Given the description of an element on the screen output the (x, y) to click on. 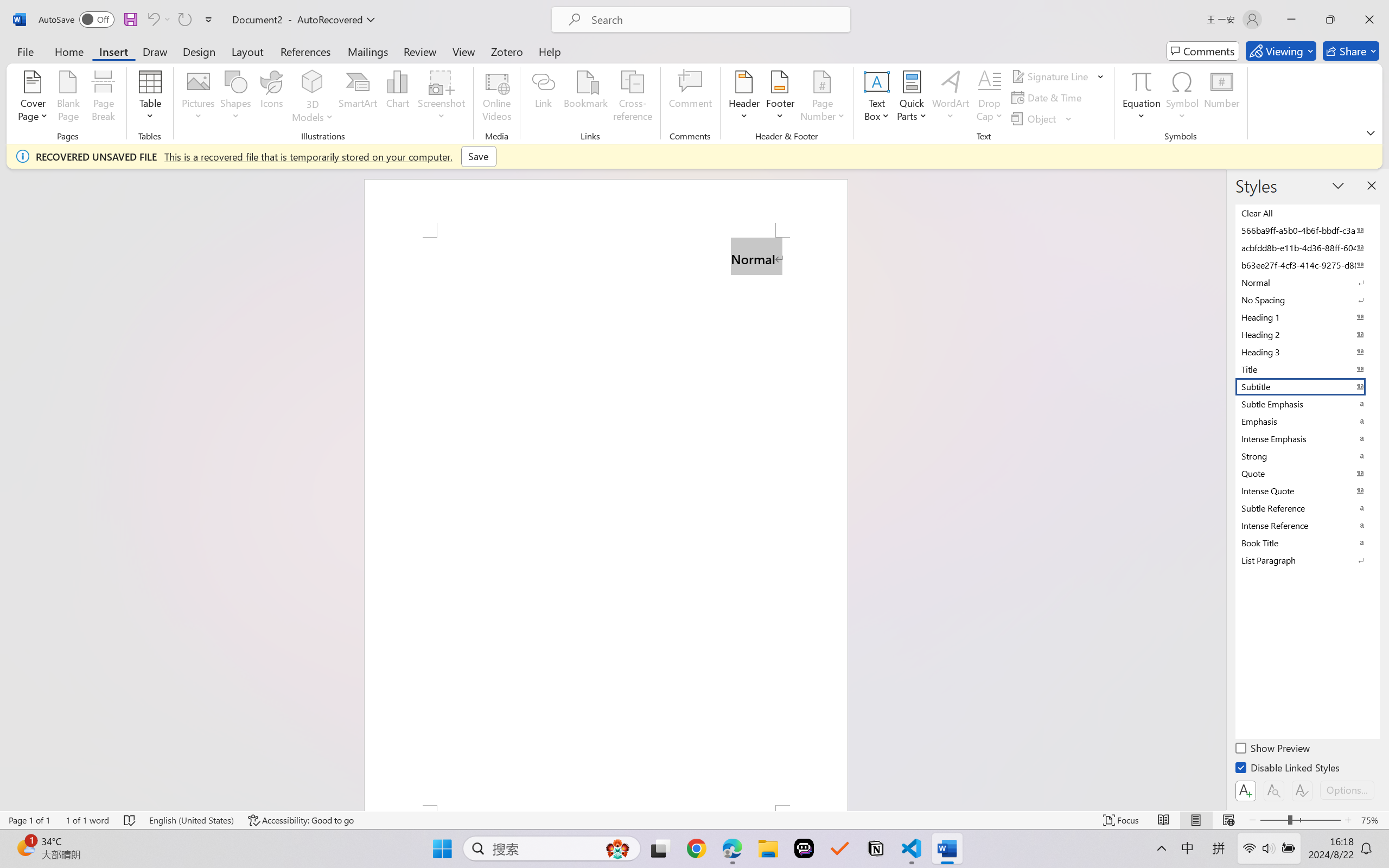
Pictures (198, 97)
3D Models (312, 81)
Comment (689, 97)
Heading 2 (1306, 334)
Intense Emphasis (1306, 438)
acbfdd8b-e11b-4d36-88ff-6049b138f862 (1306, 247)
Header (743, 97)
Chart... (396, 97)
